Given the description of an element on the screen output the (x, y) to click on. 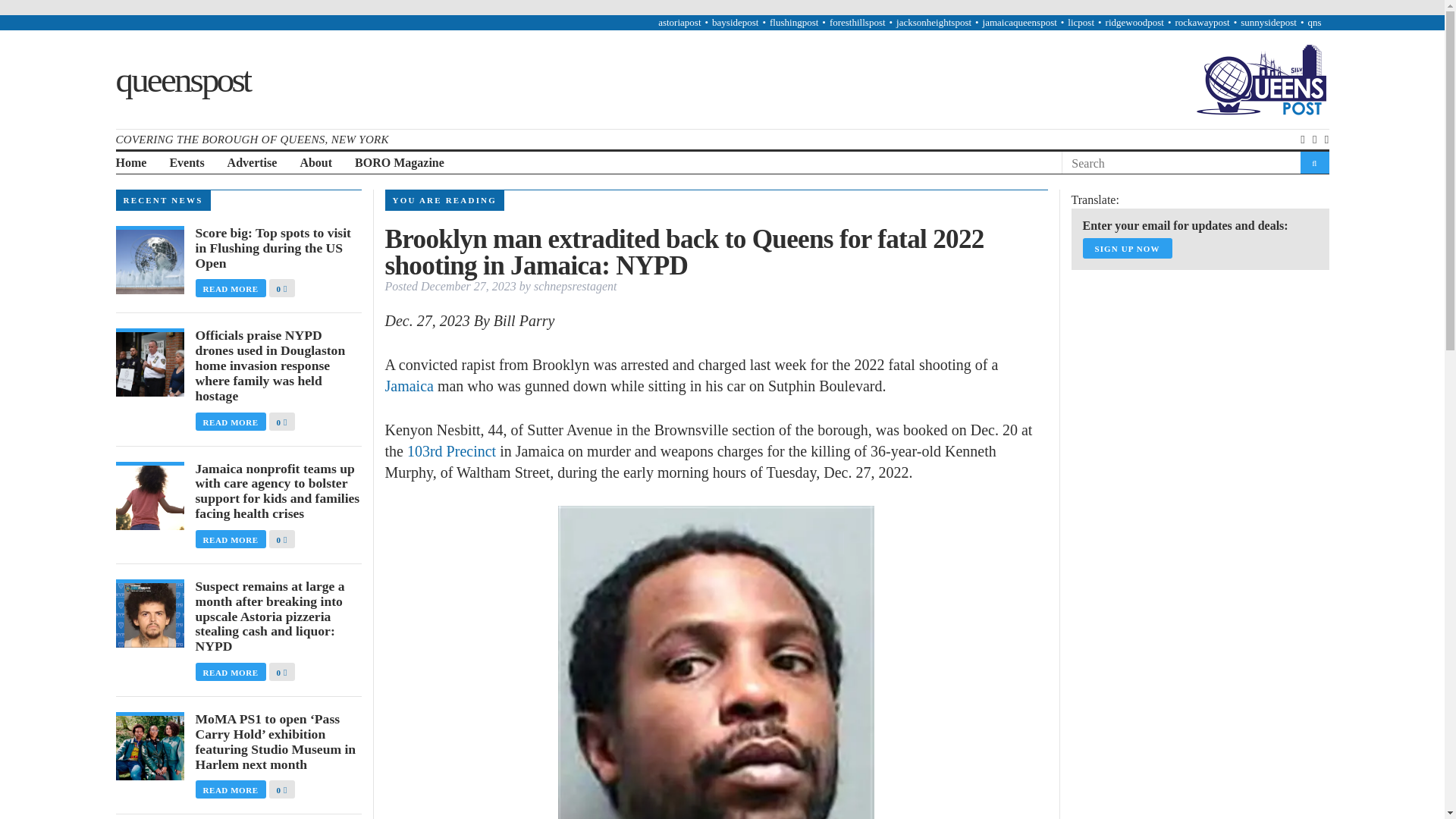
licpost (1080, 21)
qns (1313, 21)
foresthillspost (857, 21)
astoriapost (679, 21)
Home (131, 163)
flushingpost (794, 21)
Events (185, 163)
Jamaica (409, 385)
sunnysidepost (1268, 21)
jacksonheightspost (933, 21)
